Given the description of an element on the screen output the (x, y) to click on. 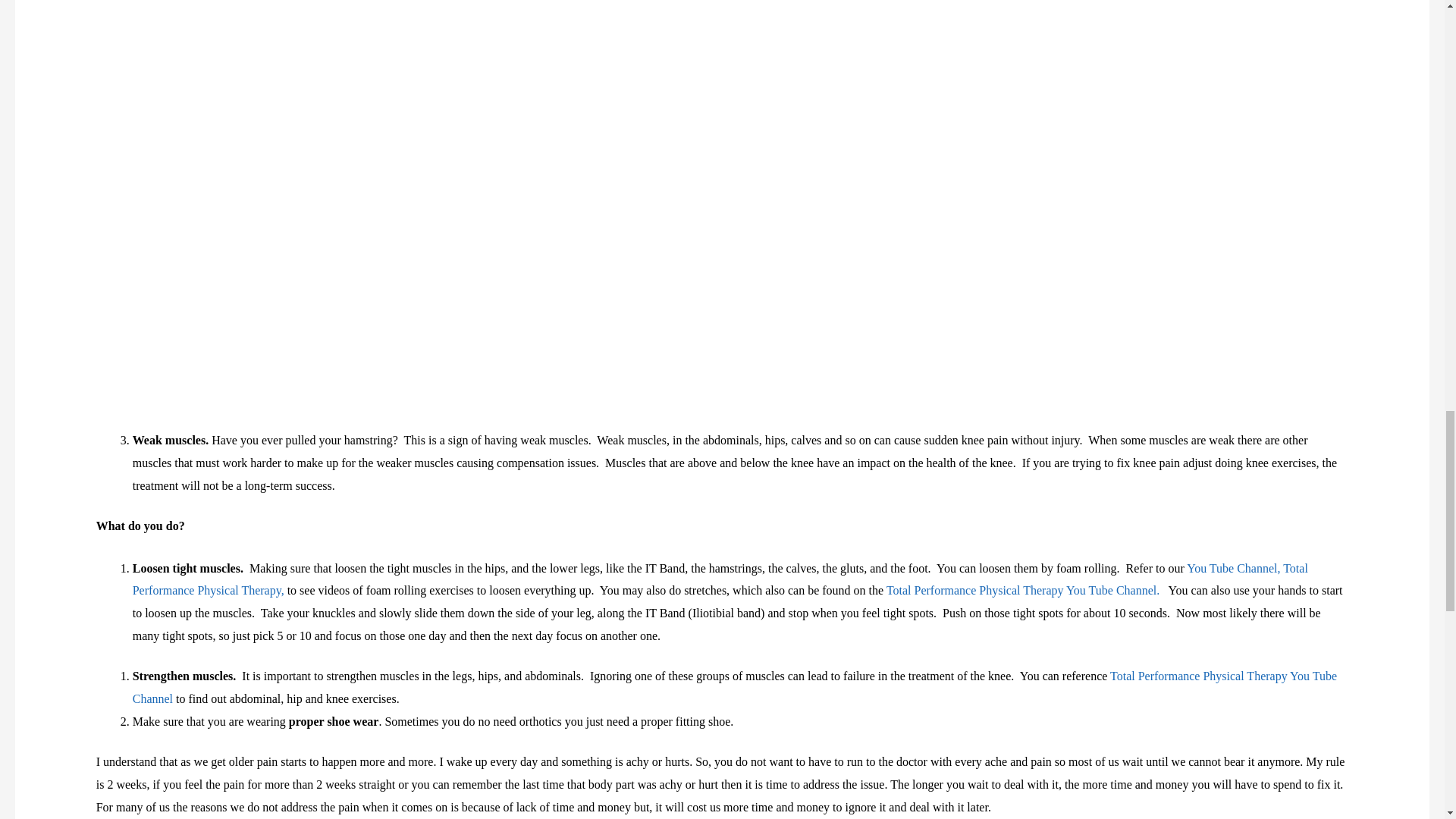
Total Performance Physical Therapy You Tube Channel (734, 687)
Total Performance Physical Therapy You Tube Channel. (1022, 590)
You Tube Channel, Total Performance Physical Therapy, (719, 579)
